Given the description of an element on the screen output the (x, y) to click on. 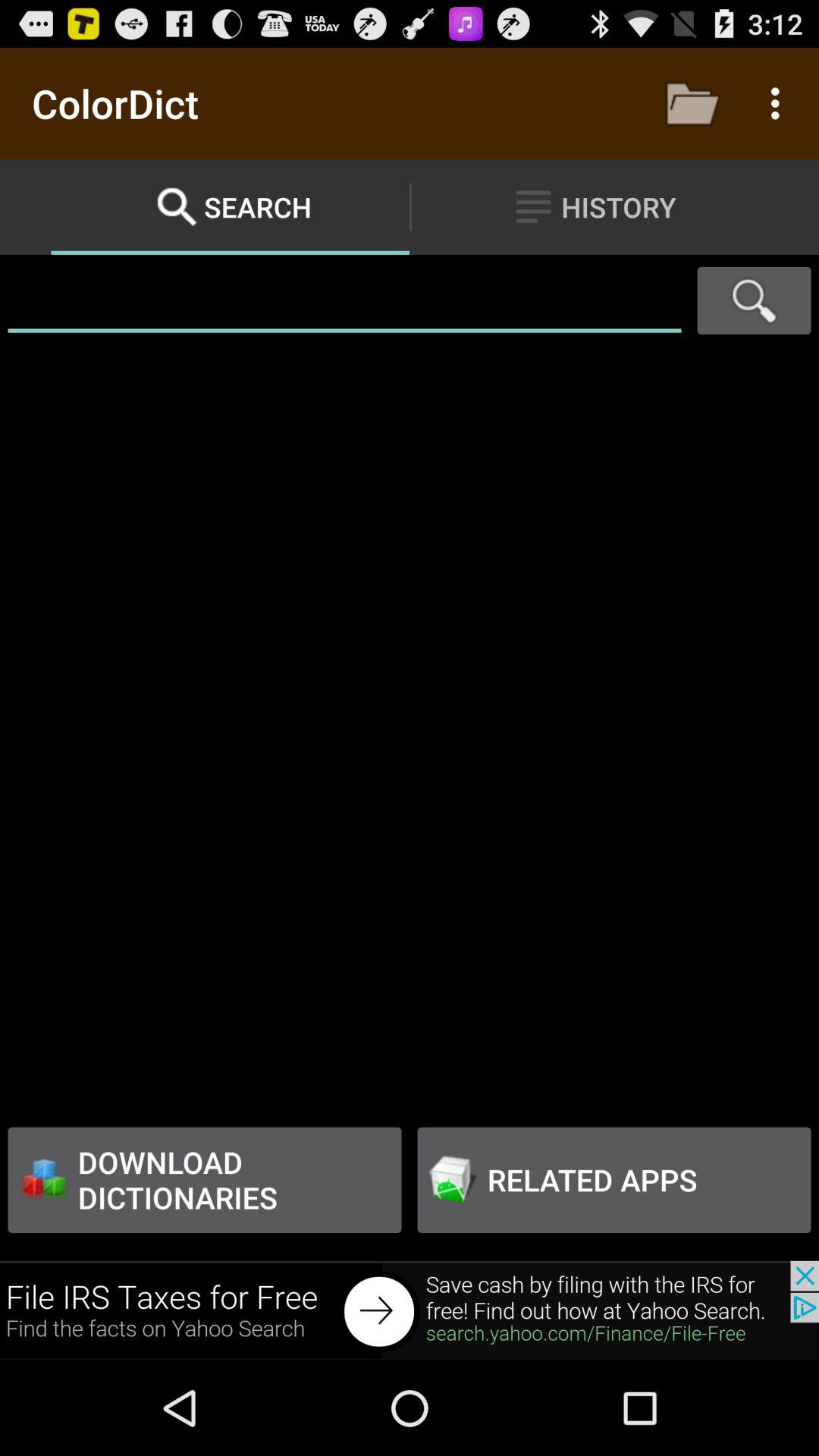
search box (344, 300)
